Given the description of an element on the screen output the (x, y) to click on. 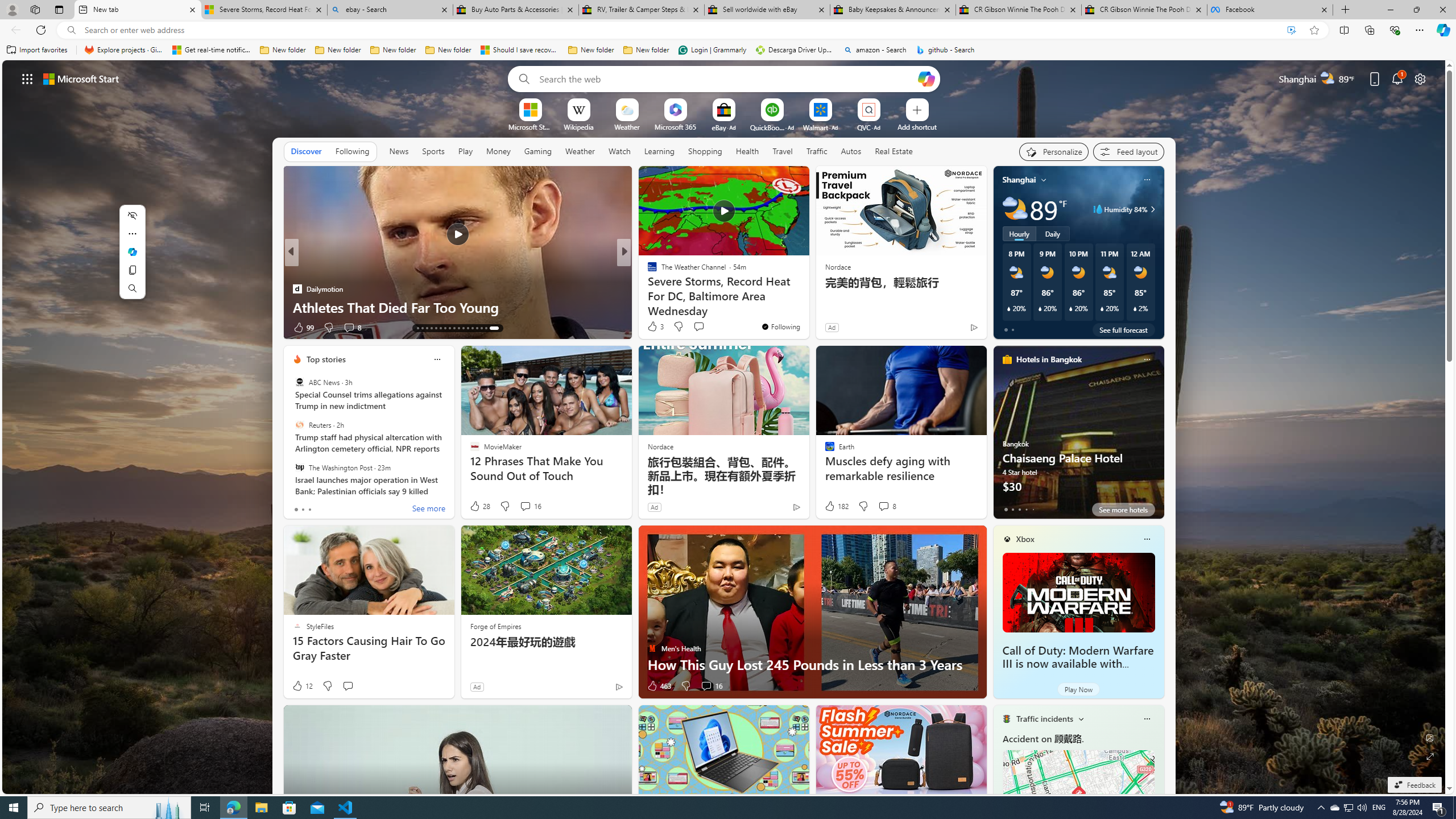
Shopping (705, 151)
Hourly (1018, 233)
Money (498, 151)
Add a site (916, 126)
Microsoft start (81, 78)
Class: icon-img (1146, 718)
353 Like (654, 327)
Hotels in Bangkok (1048, 359)
Learning (659, 151)
View comments 5 Comment (348, 327)
ETNT Mind+Body (647, 270)
Health (746, 151)
